Given the description of an element on the screen output the (x, y) to click on. 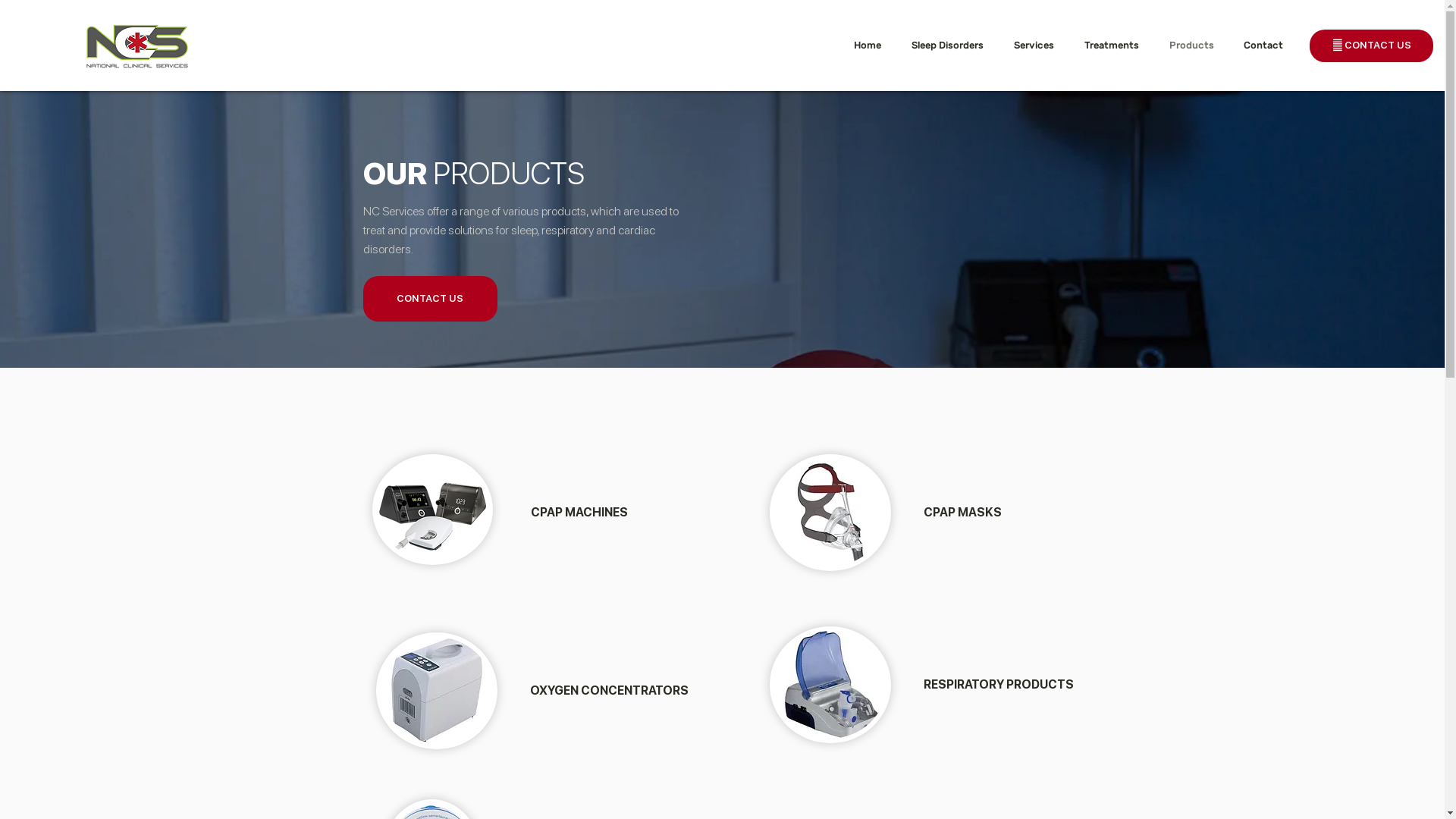
Treatments Element type: text (1115, 44)
CONTACT US Element type: text (429, 298)
Products Element type: text (1194, 44)
Services Element type: text (1037, 44)
Contact Element type: text (1266, 44)
Sleep Disorders Element type: text (951, 44)
Home Element type: text (871, 44)
